Given the description of an element on the screen output the (x, y) to click on. 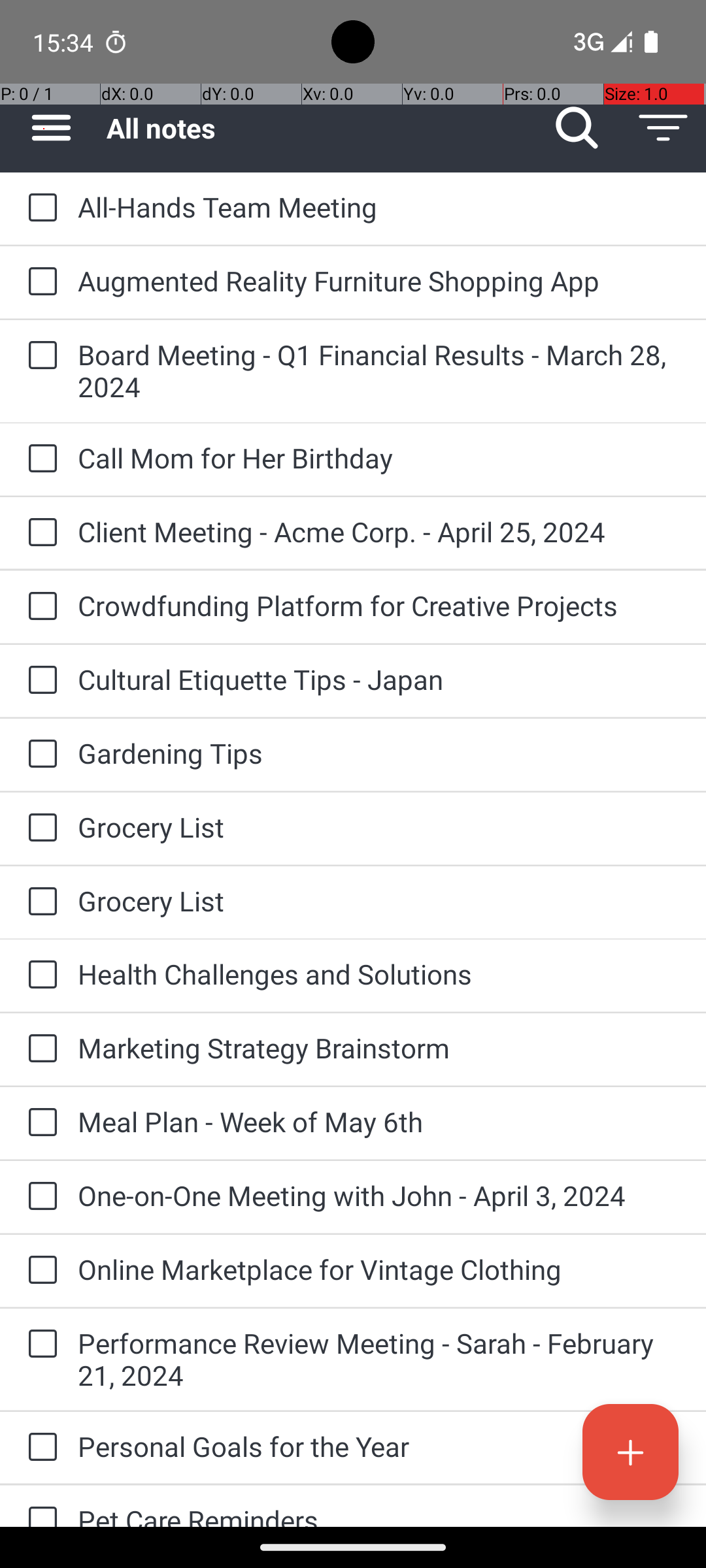
to-do: All-Hands Team Meeting Element type: android.widget.CheckBox (38, 208)
All-Hands Team Meeting Element type: android.widget.TextView (378, 206)
to-do: Augmented Reality Furniture Shopping App Element type: android.widget.CheckBox (38, 282)
Augmented Reality Furniture Shopping App Element type: android.widget.TextView (378, 280)
to-do: Board Meeting - Q1 Financial Results - March 28, 2024 Element type: android.widget.CheckBox (38, 356)
to-do: Call Mom for Her Birthday Element type: android.widget.CheckBox (38, 459)
Call Mom for Her Birthday Element type: android.widget.TextView (378, 457)
to-do: Client Meeting - Acme Corp. - April 25, 2024 Element type: android.widget.CheckBox (38, 533)
Client Meeting - Acme Corp. - April 25, 2024 Element type: android.widget.TextView (378, 531)
to-do: Crowdfunding Platform for Creative Projects Element type: android.widget.CheckBox (38, 606)
Crowdfunding Platform for Creative Projects Element type: android.widget.TextView (378, 604)
to-do: Cultural Etiquette Tips - Japan Element type: android.widget.CheckBox (38, 680)
Cultural Etiquette Tips - Japan Element type: android.widget.TextView (378, 678)
to-do: Gardening Tips Element type: android.widget.CheckBox (38, 754)
Gardening Tips Element type: android.widget.TextView (378, 752)
to-do: Health Challenges and Solutions Element type: android.widget.CheckBox (38, 975)
Health Challenges and Solutions Element type: android.widget.TextView (378, 973)
to-do: Marketing Strategy Brainstorm Element type: android.widget.CheckBox (38, 1049)
Marketing Strategy Brainstorm Element type: android.widget.TextView (378, 1047)
to-do: Meal Plan - Week of May 6th Element type: android.widget.CheckBox (38, 1123)
Meal Plan - Week of May 6th Element type: android.widget.TextView (378, 1121)
to-do: One-on-One Meeting with John - April 3, 2024 Element type: android.widget.CheckBox (38, 1196)
One-on-One Meeting with John - April 3, 2024 Element type: android.widget.TextView (378, 1194)
to-do: Performance Review Meeting - Sarah - February 21, 2024 Element type: android.widget.CheckBox (38, 1344)
Performance Review Meeting - Sarah - February 21, 2024 Element type: android.widget.TextView (378, 1358)
to-do: Personal Goals for the Year Element type: android.widget.CheckBox (38, 1447)
Personal Goals for the Year Element type: android.widget.TextView (378, 1445)
to-do: Pet Care Reminders Element type: android.widget.CheckBox (38, 1505)
Pet Care Reminders Element type: android.widget.TextView (378, 1513)
